Given the description of an element on the screen output the (x, y) to click on. 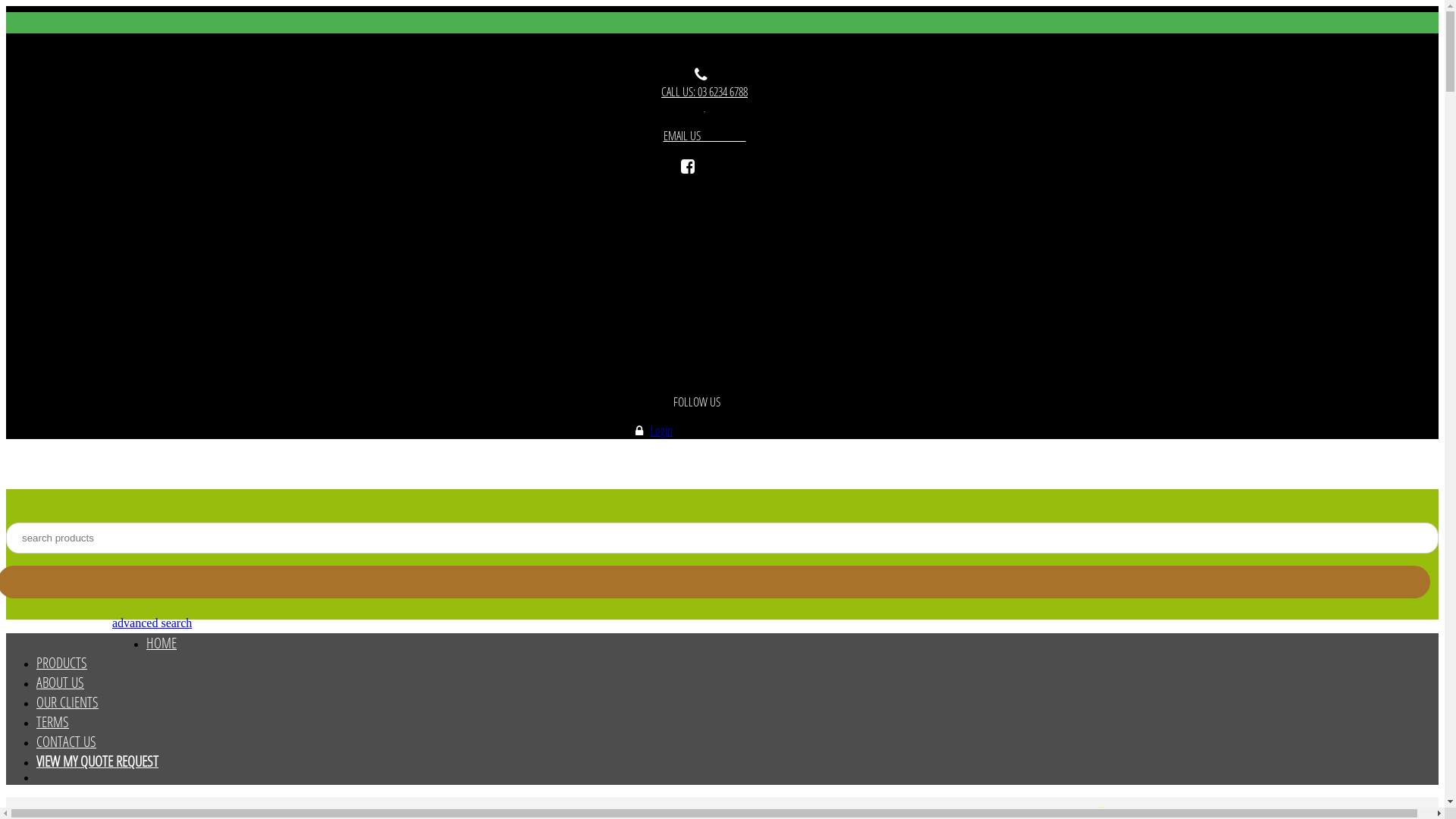
HOME Element type: text (161, 642)
VIEW MY QUOTE REQUEST Element type: text (97, 761)
ABOUT US Element type: text (60, 682)
Login Element type: text (661, 430)
EMAIL US                Element type: text (703, 135)
CALL US: 03 6234 6788 Element type: text (704, 91)
  Element type: text (704, 109)
OUR CLIENTS Element type: text (67, 702)
Toggle navigation Element type: text (722, 22)
PRODUCTS Element type: text (61, 662)
CONTACT US Element type: text (66, 741)
TERMS Element type: text (52, 721)
advanced search Element type: text (151, 622)
